Given the description of an element on the screen output the (x, y) to click on. 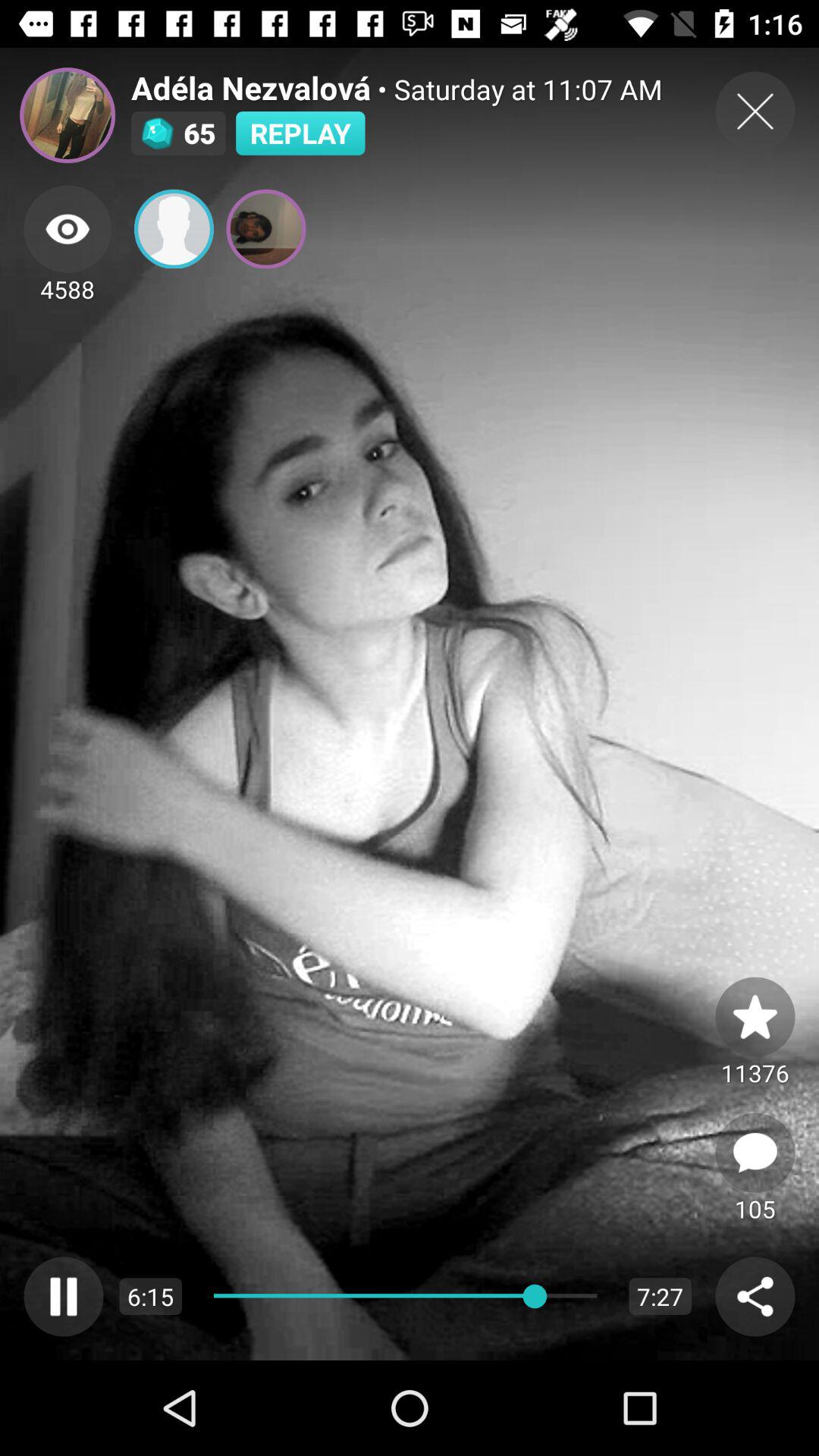
share the article (755, 1296)
